Given the description of an element on the screen output the (x, y) to click on. 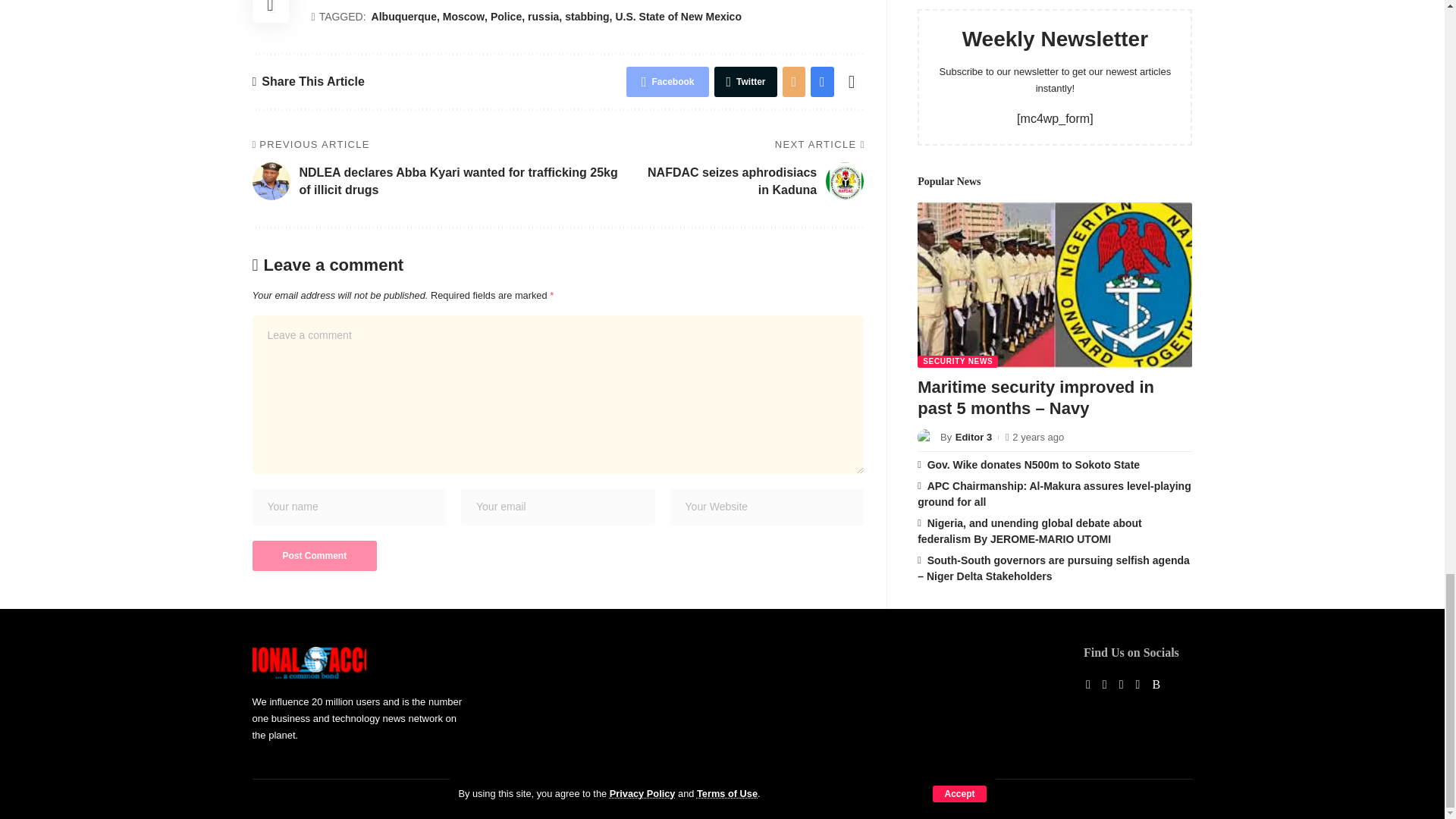
Post Comment (314, 555)
